Given the description of an element on the screen output the (x, y) to click on. 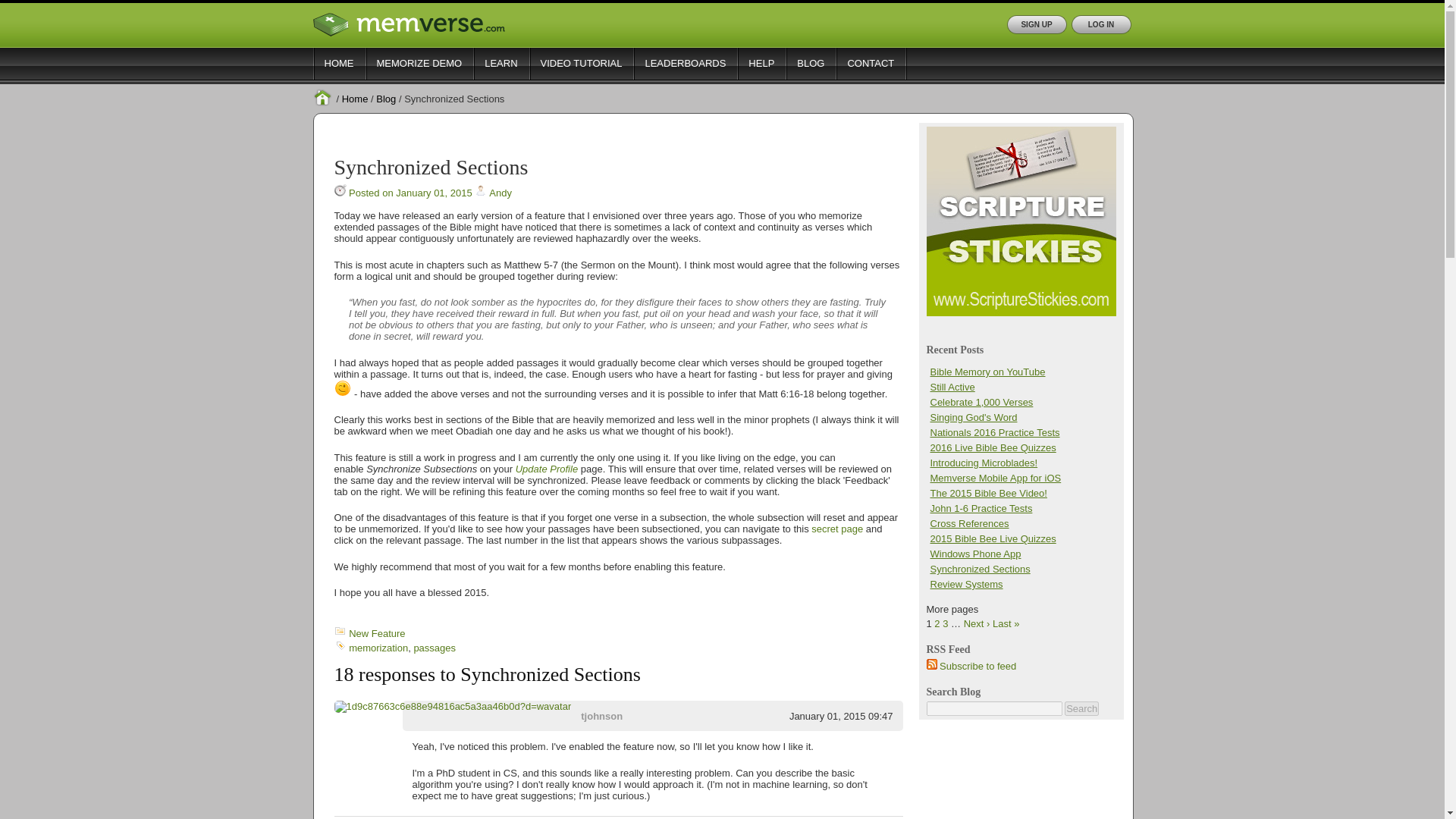
BLOG (810, 63)
passages (434, 647)
Home (355, 98)
HOME (339, 63)
LEARN (500, 63)
VIDEO TUTORIAL (581, 63)
Andy (500, 193)
LEADERBOARDS (684, 63)
tjohnson (600, 716)
secret page (836, 528)
New Feature (376, 633)
LOG IN (1100, 24)
Search (1081, 708)
MEMORIZE DEMO (419, 63)
